Given the description of an element on the screen output the (x, y) to click on. 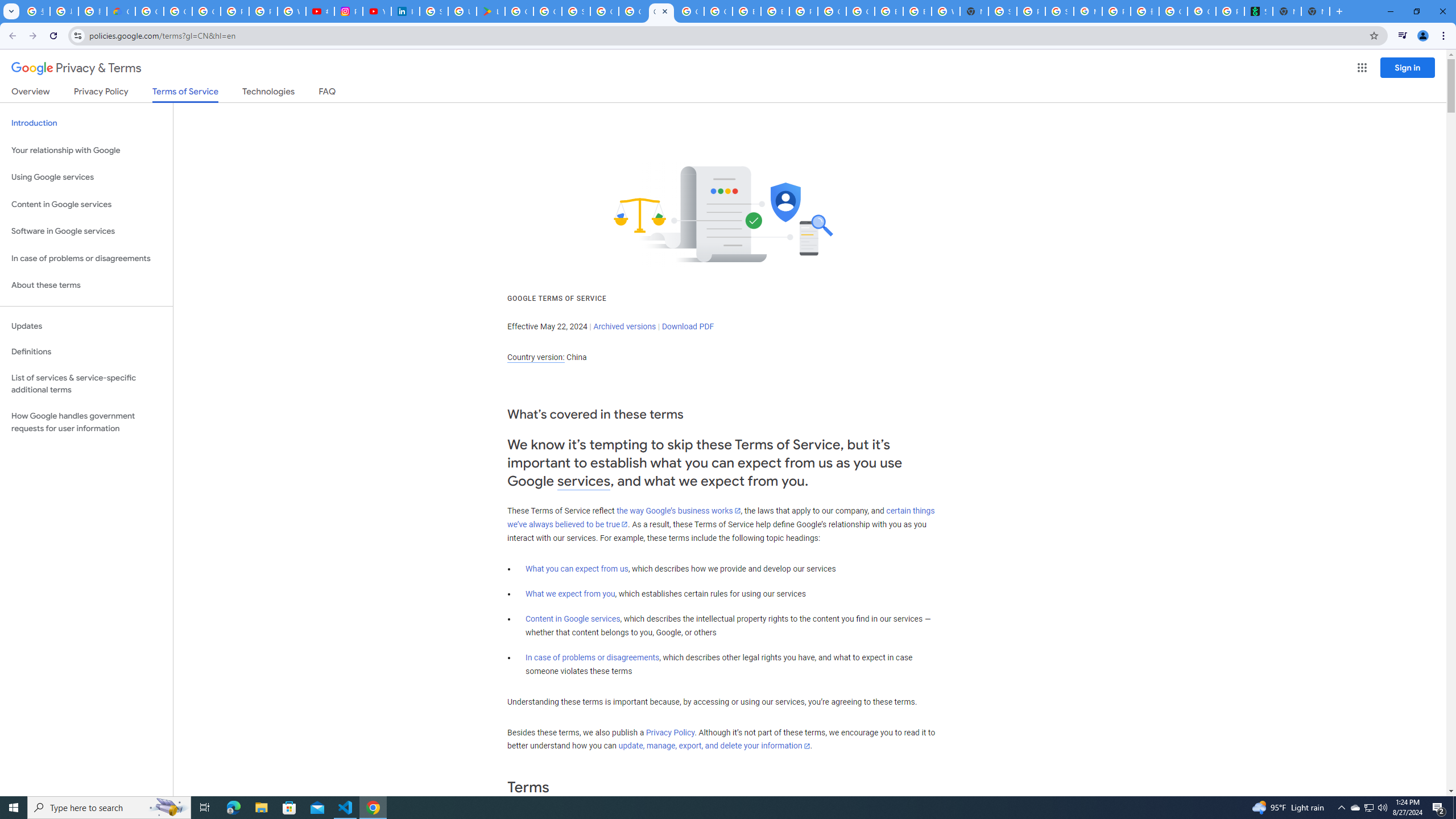
update, manage, export, and delete your information (714, 746)
#nbabasketballhighlights - YouTube (320, 11)
Last Shelter: Survival - Apps on Google Play (490, 11)
What you can expect from us (576, 568)
Sign in - Google Accounts (1002, 11)
